Given the description of an element on the screen output the (x, y) to click on. 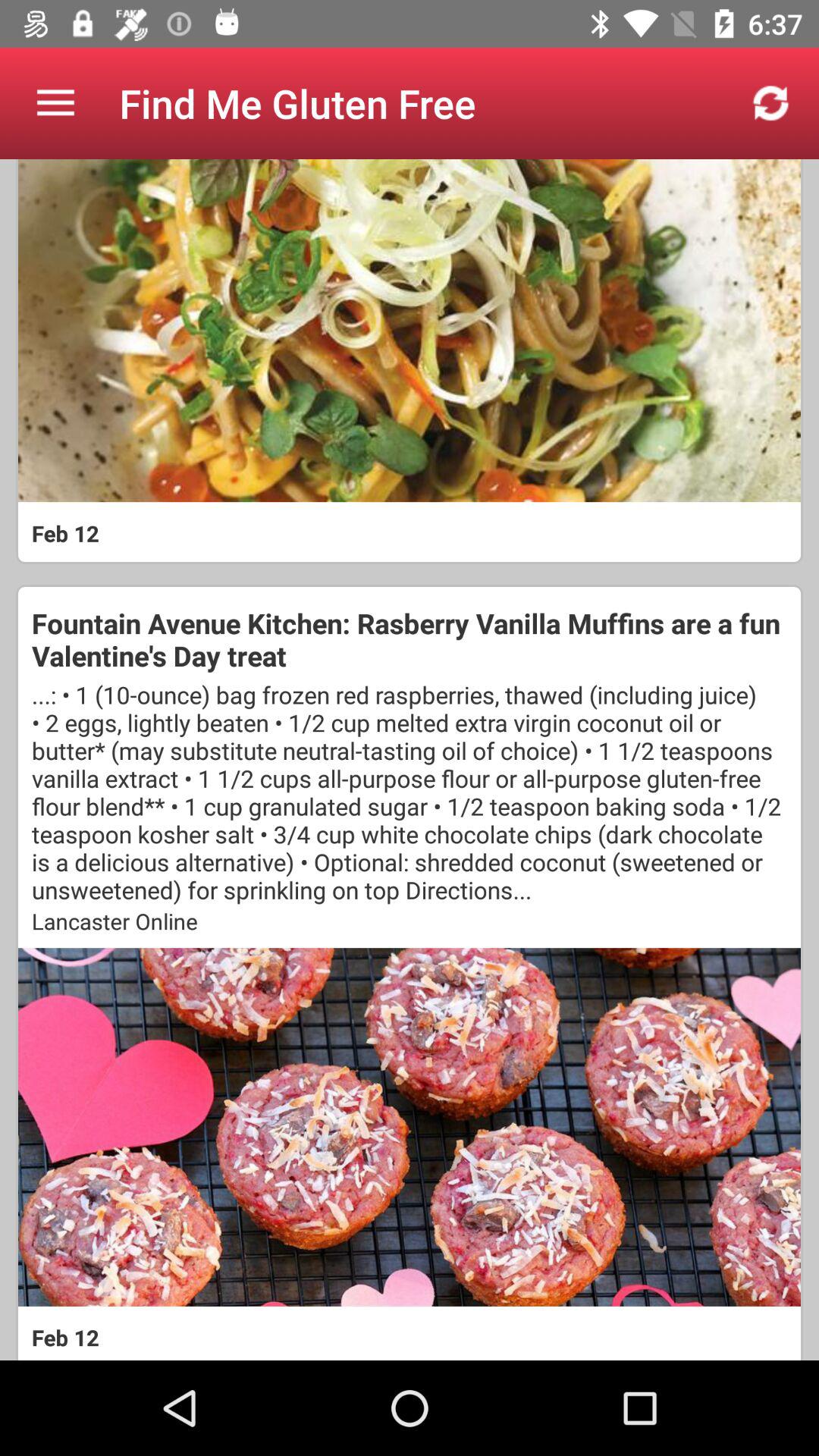
press the app next to the find me gluten app (55, 103)
